Given the description of an element on the screen output the (x, y) to click on. 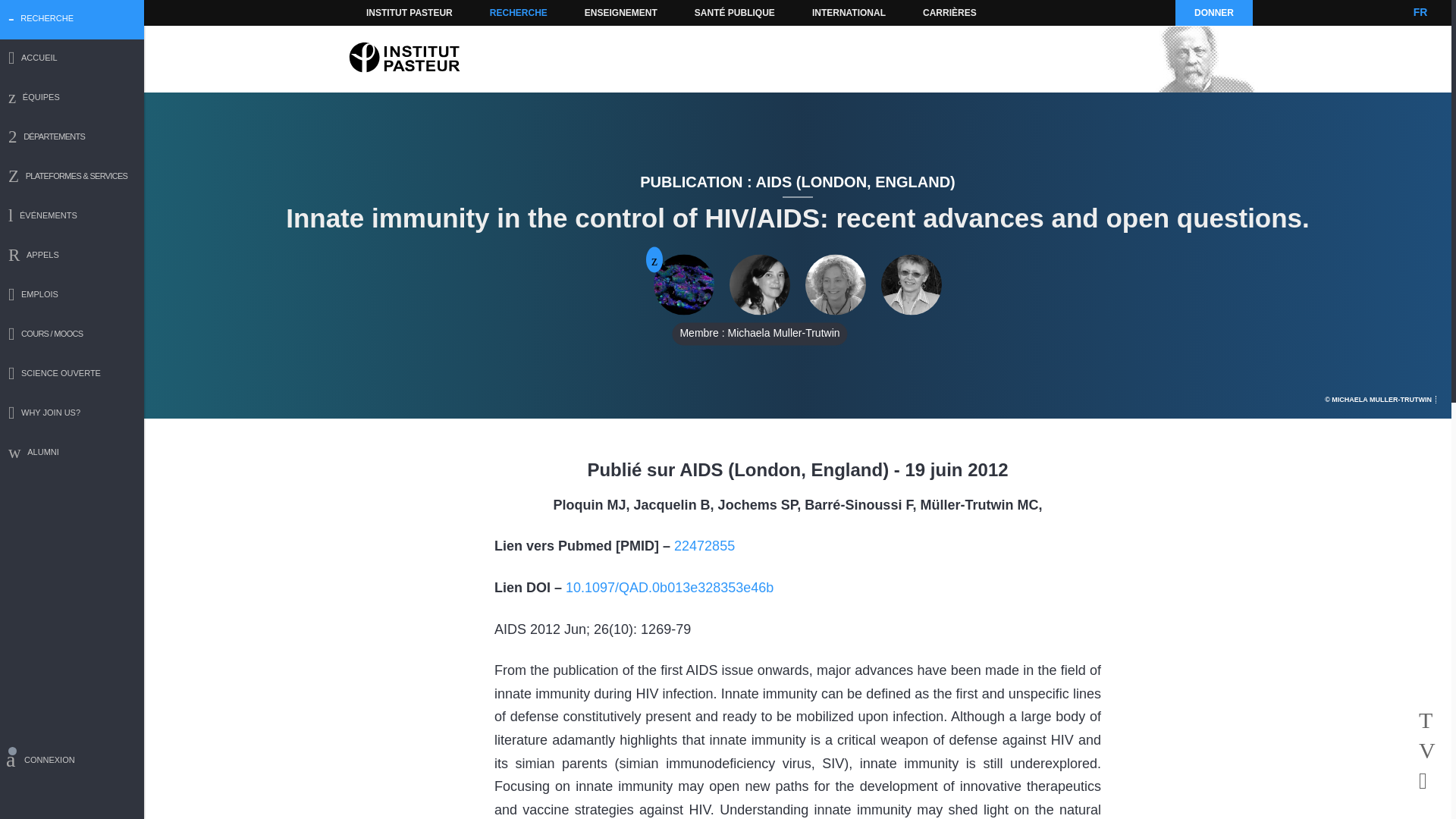
DONNER (1213, 12)
FR (1419, 11)
WHY JOIN US? (72, 413)
CONNEXION (72, 762)
RECHERCHE (518, 12)
Aller au contenu (391, 11)
SCIENCE OUVERTE (72, 374)
Membre : Michaela Muller-Trutwin (759, 283)
INTERNATIONAL (848, 12)
EMPLOIS (72, 296)
